Given the description of an element on the screen output the (x, y) to click on. 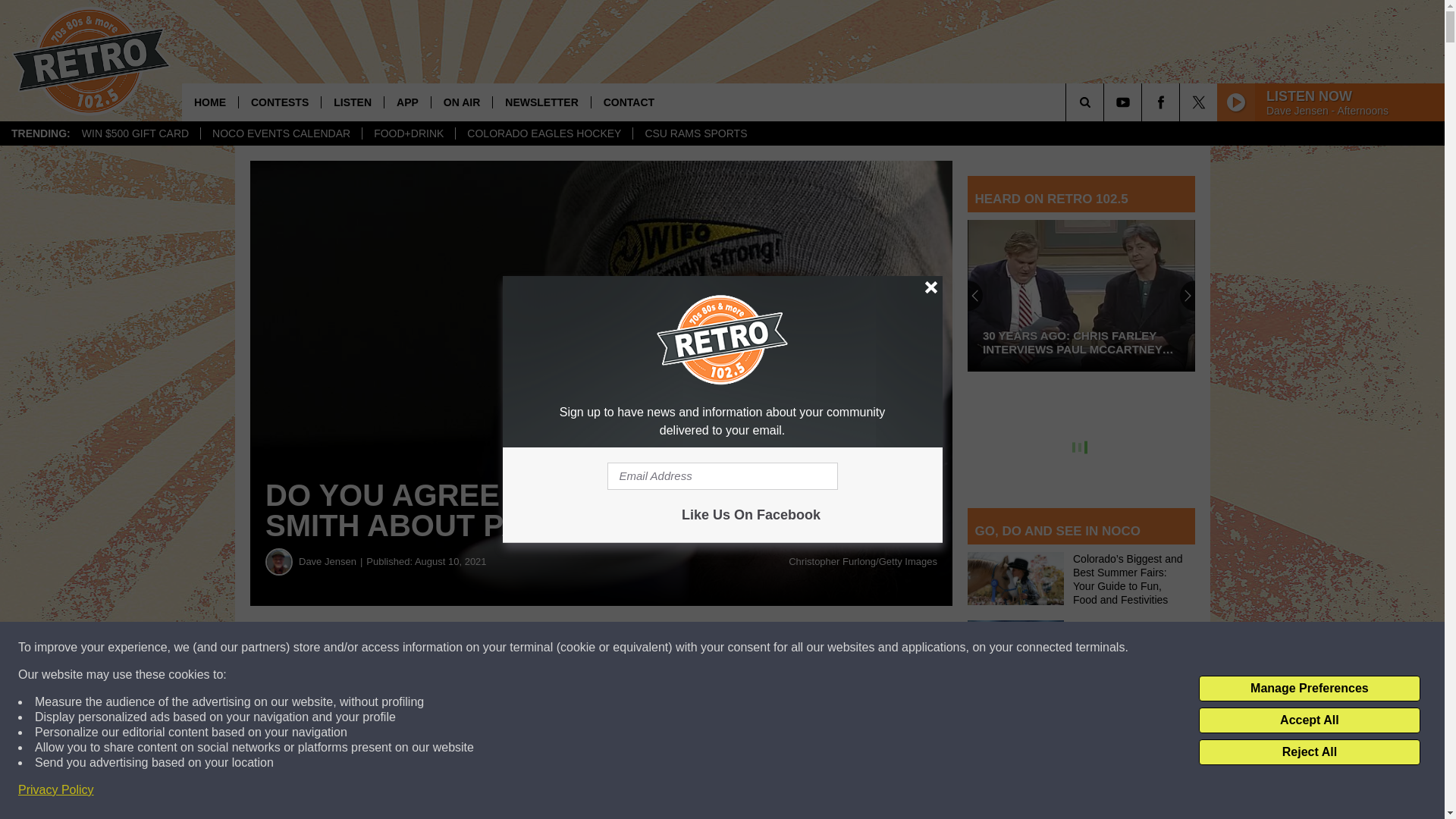
HOME (210, 102)
ON AIR (461, 102)
CSU RAMS SPORTS (694, 133)
LISTEN (352, 102)
Email Address (722, 475)
Accept All (1309, 720)
Share on Twitter (741, 647)
Reject All (1309, 751)
Share on Facebook (460, 647)
Manage Preferences (1309, 688)
SEARCH (1106, 102)
APP (407, 102)
NOCO EVENTS CALENDAR (280, 133)
CONTACT (628, 102)
NEWSLETTER (540, 102)
